Given the description of an element on the screen output the (x, y) to click on. 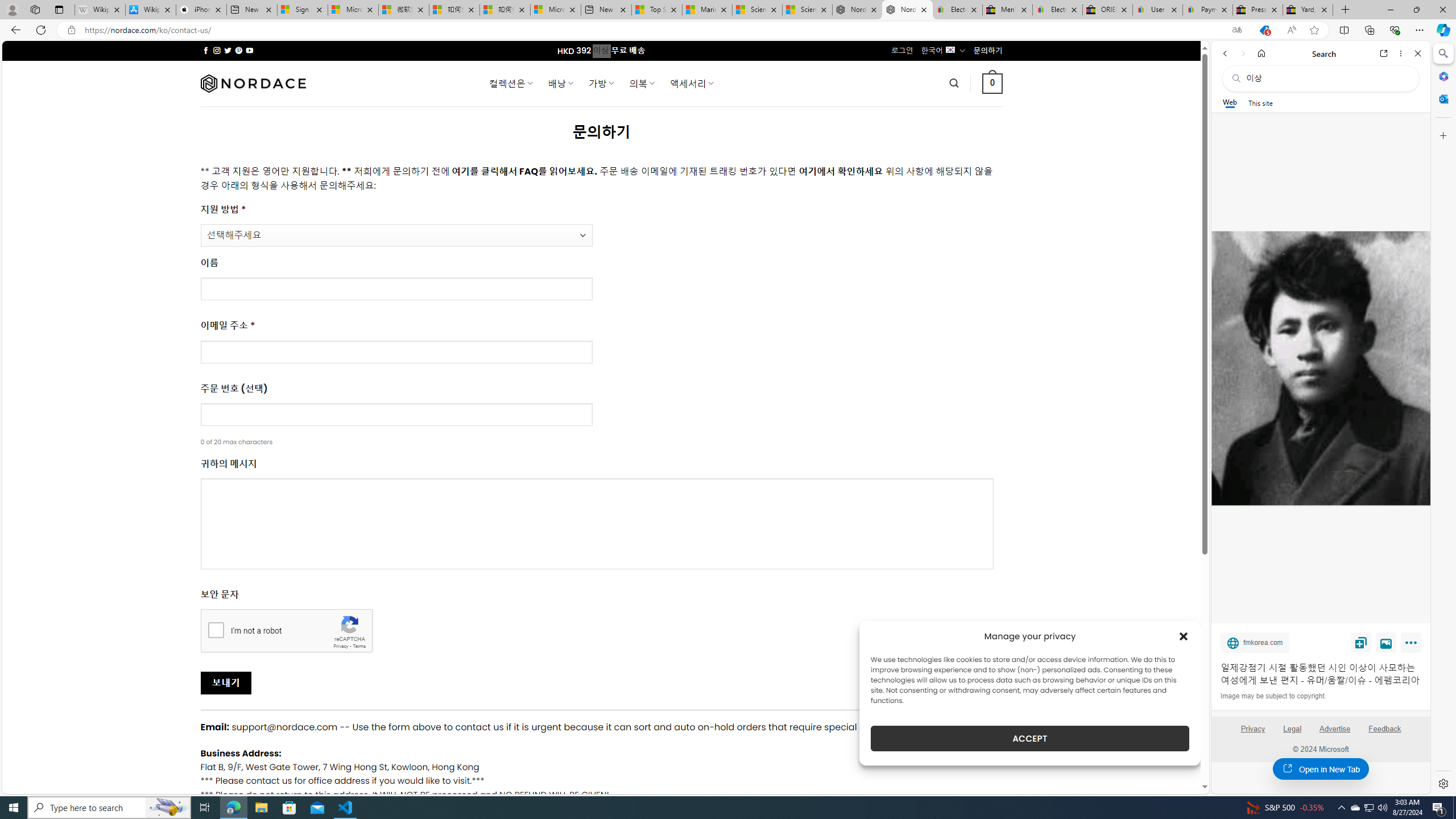
Follow on Instagram (216, 50)
